Given the description of an element on the screen output the (x, y) to click on. 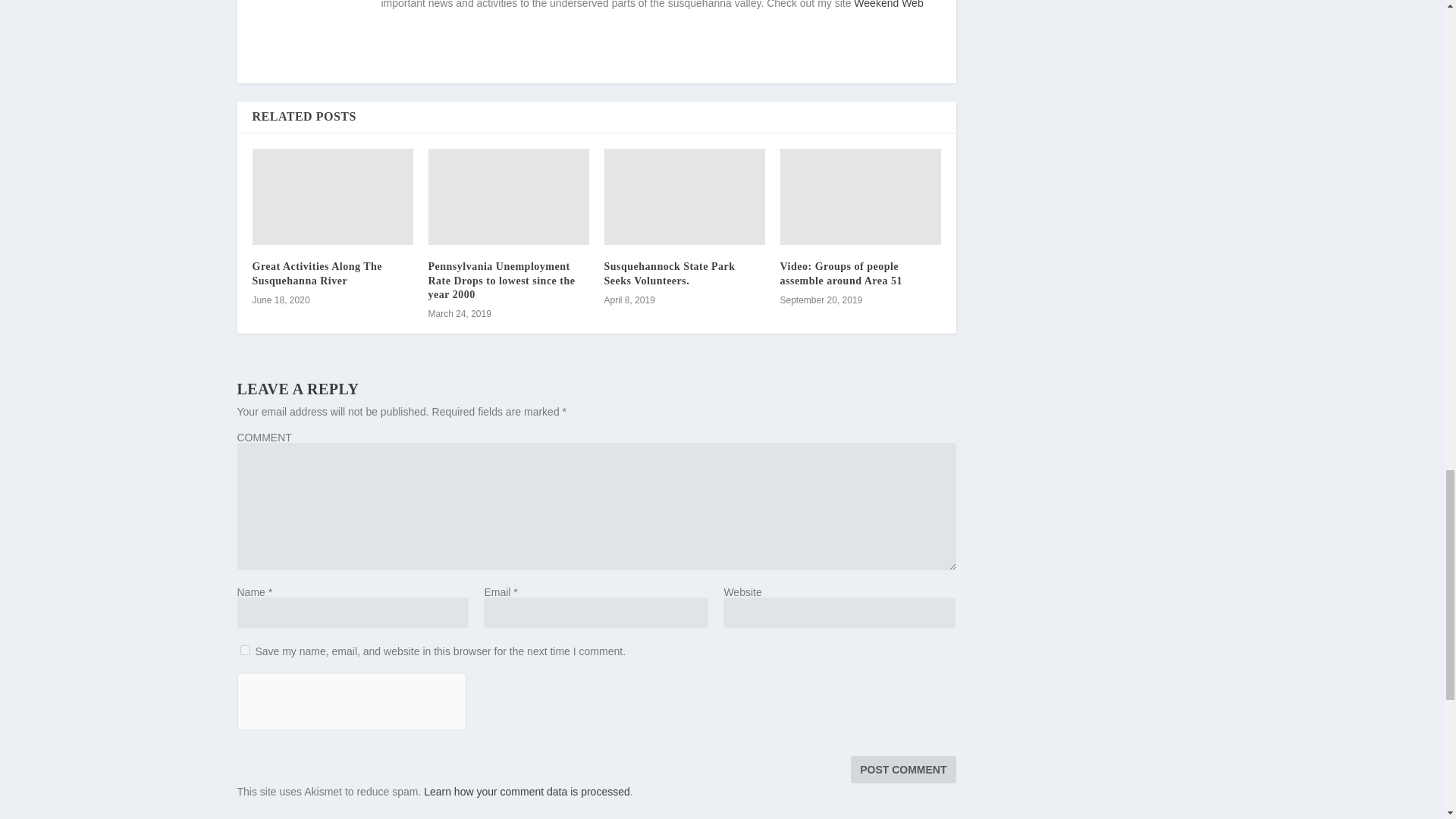
Post Comment (902, 768)
Great Activities Along The Susquehanna River (316, 273)
Weekend Web (888, 4)
yes (244, 650)
